Given the description of an element on the screen output the (x, y) to click on. 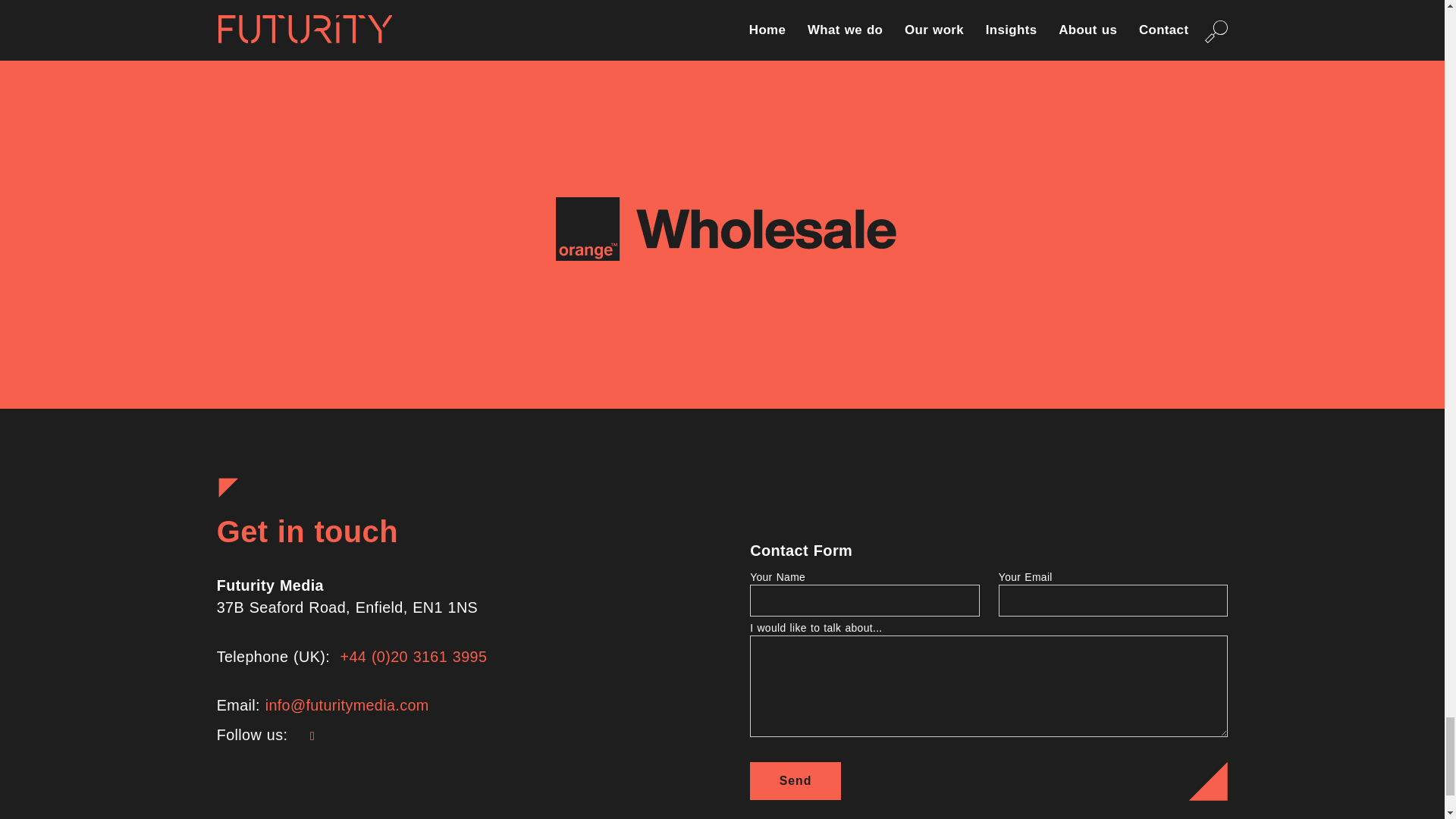
Follow on LinkedIn (311, 735)
Send (795, 781)
Send (795, 781)
